Given the description of an element on the screen output the (x, y) to click on. 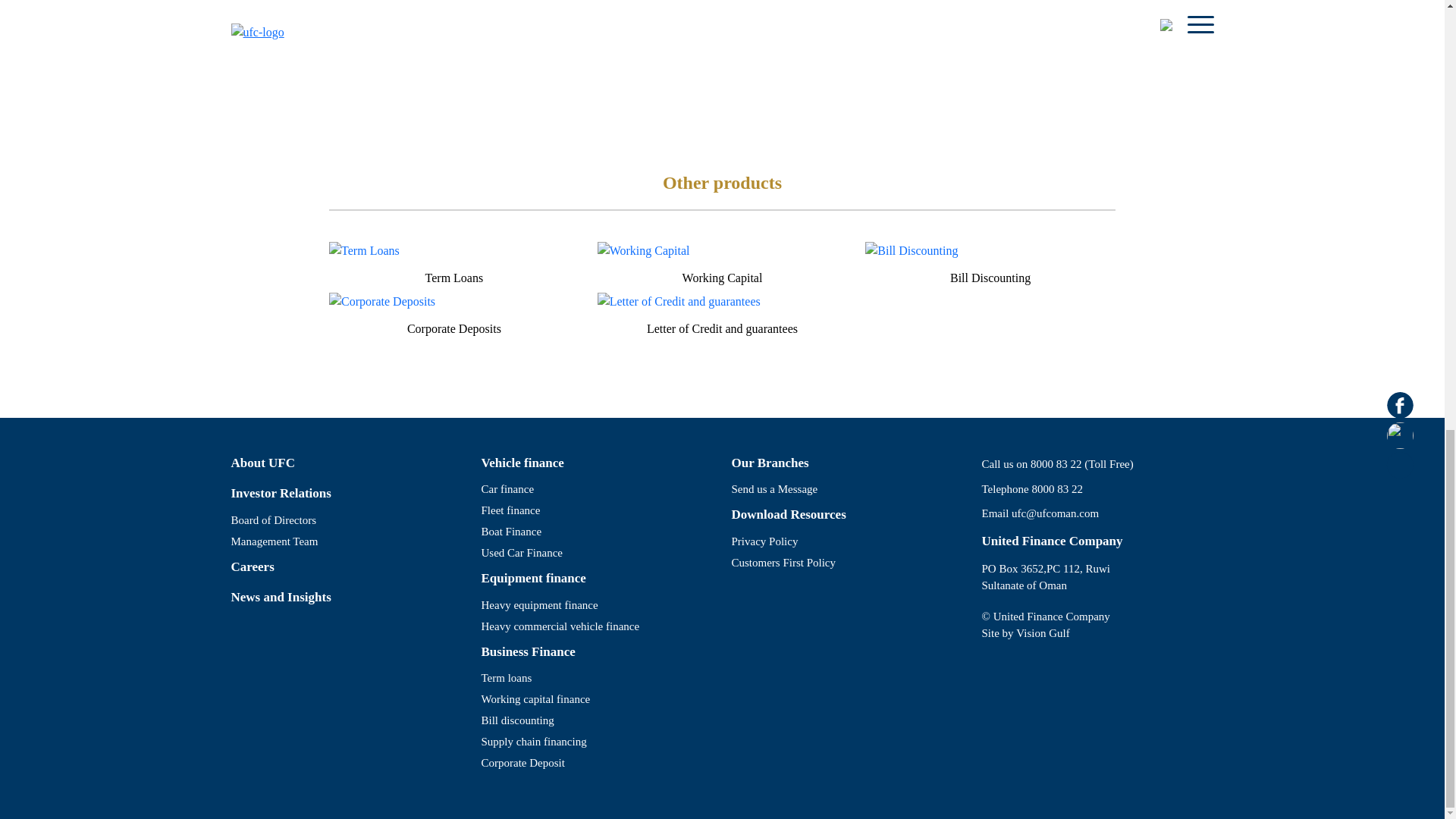
Letter of Credit and guarantees (721, 331)
Find a branch (801, 36)
Term Loans (454, 281)
Apply for finance (642, 36)
Bill Discounting (989, 281)
Working Capital (721, 281)
Corporate Deposits (454, 331)
